Given the description of an element on the screen output the (x, y) to click on. 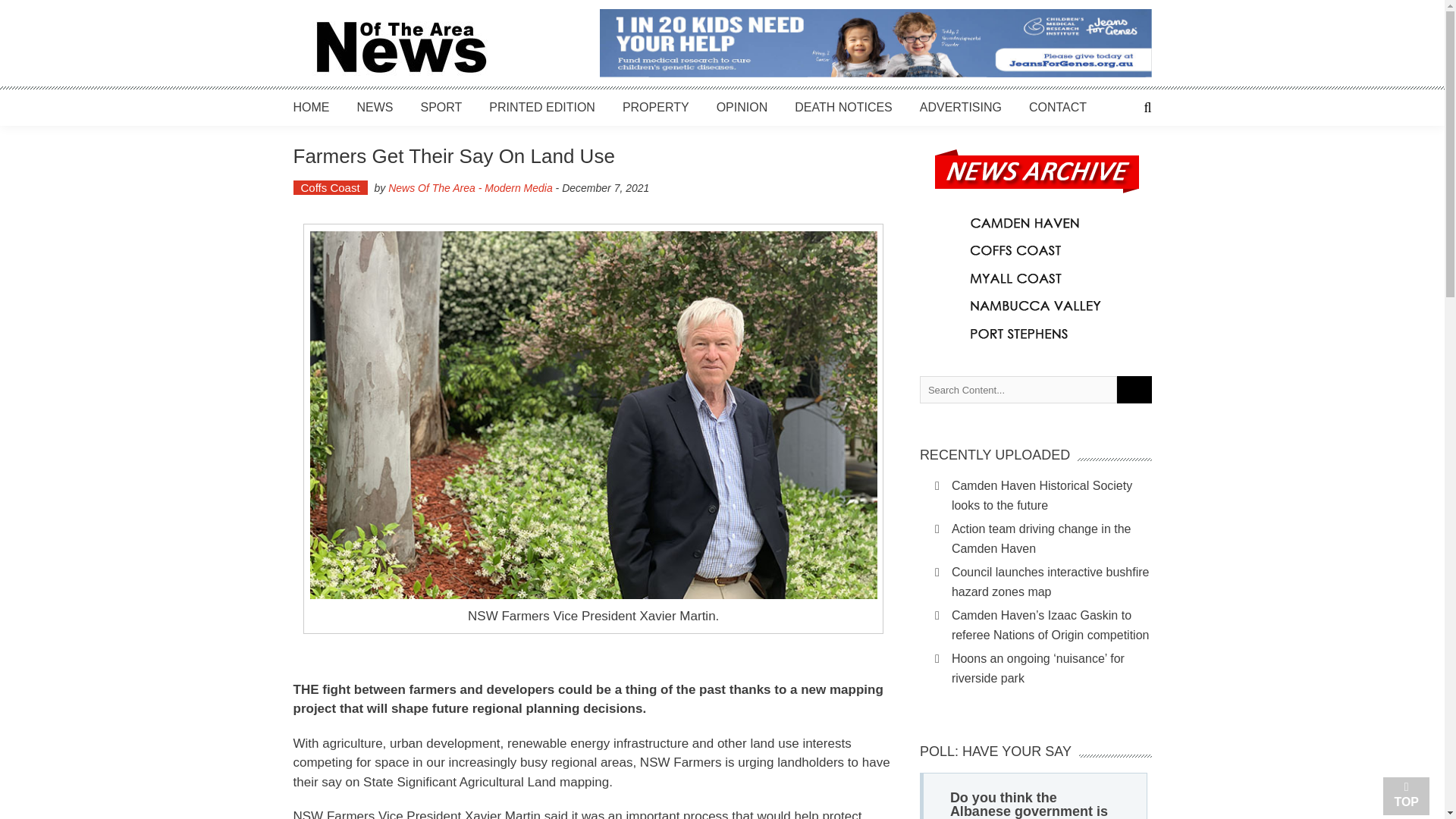
SPORT (440, 106)
PROPERTY (655, 106)
HOME (310, 106)
NEWS (374, 106)
Skip to content (37, 8)
PRINTED EDITION (542, 106)
Search for: (1018, 389)
